Given the description of an element on the screen output the (x, y) to click on. 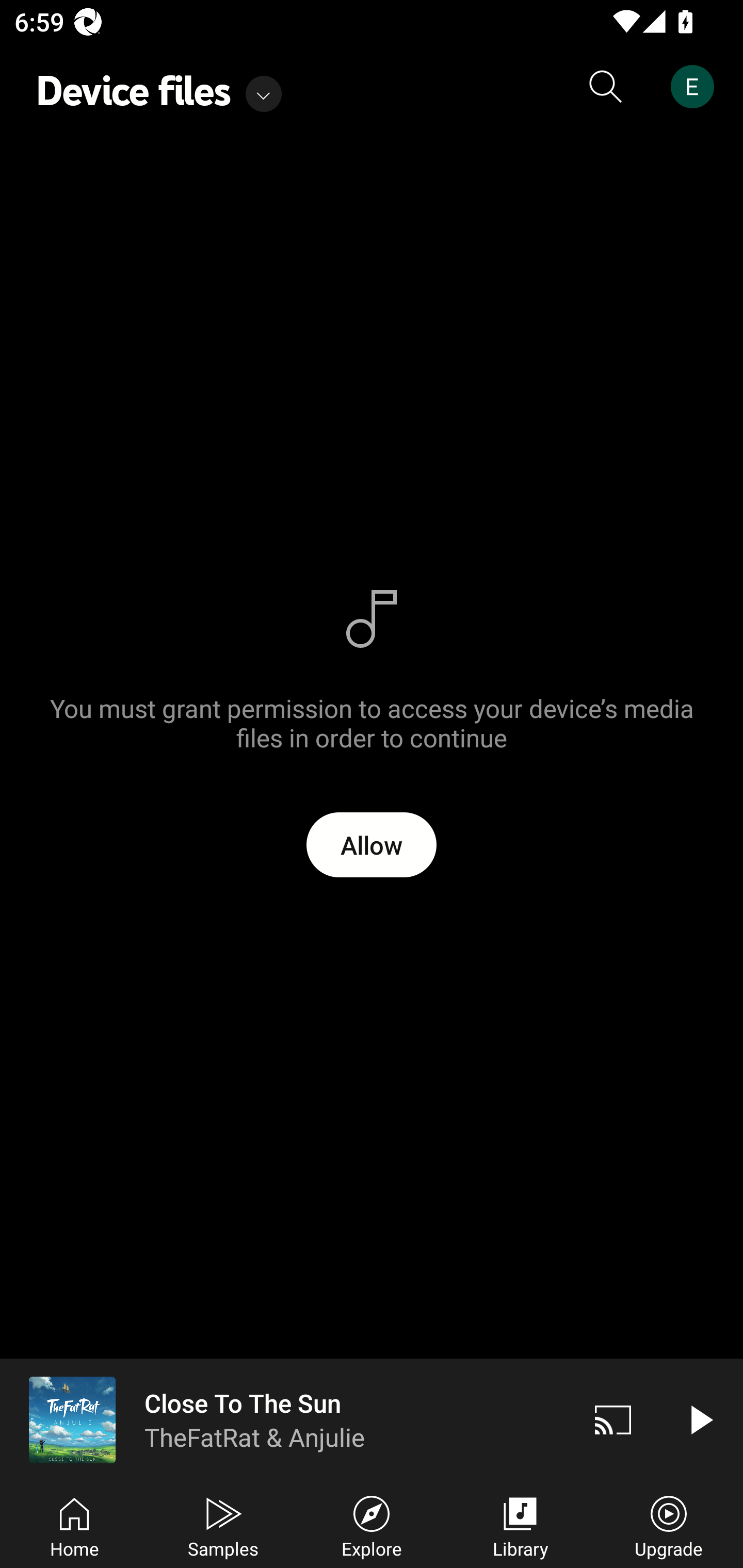
Show device file tracks selected Device files (158, 86)
Search (605, 86)
Account (696, 86)
Allow (371, 845)
Close To The Sun TheFatRat & Anjulie (284, 1419)
Cast. Disconnected (612, 1419)
Play video (699, 1419)
Home (74, 1524)
Samples (222, 1524)
Explore (371, 1524)
Upgrade (668, 1524)
